Given the description of an element on the screen output the (x, y) to click on. 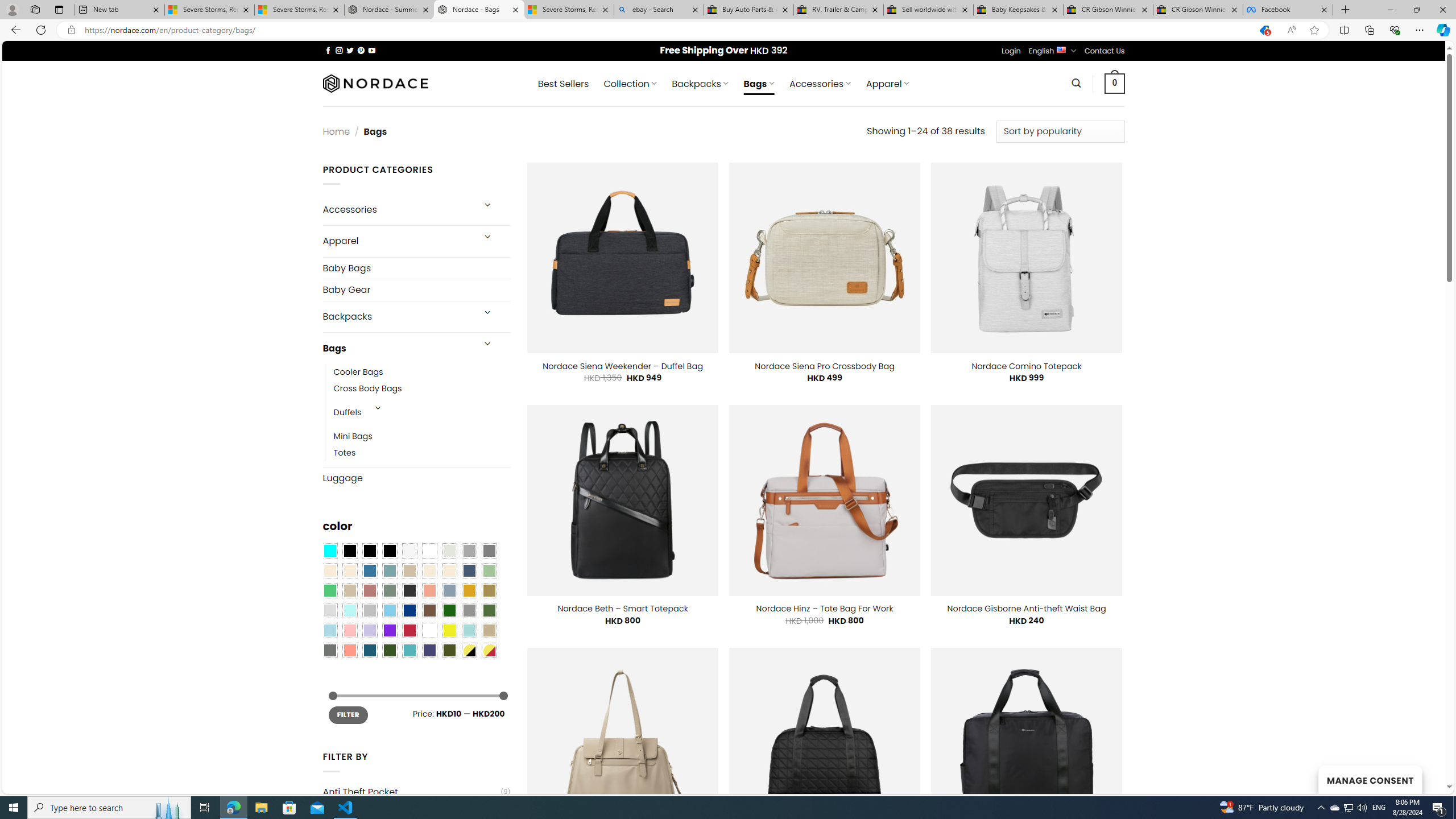
Beige-Brown (349, 570)
Light Green (488, 570)
Duffels (347, 412)
Baby Bags (416, 268)
Cooler Bags (357, 371)
Peach Pink (349, 649)
Red (408, 630)
Mini Bags (352, 436)
